Given the description of an element on the screen output the (x, y) to click on. 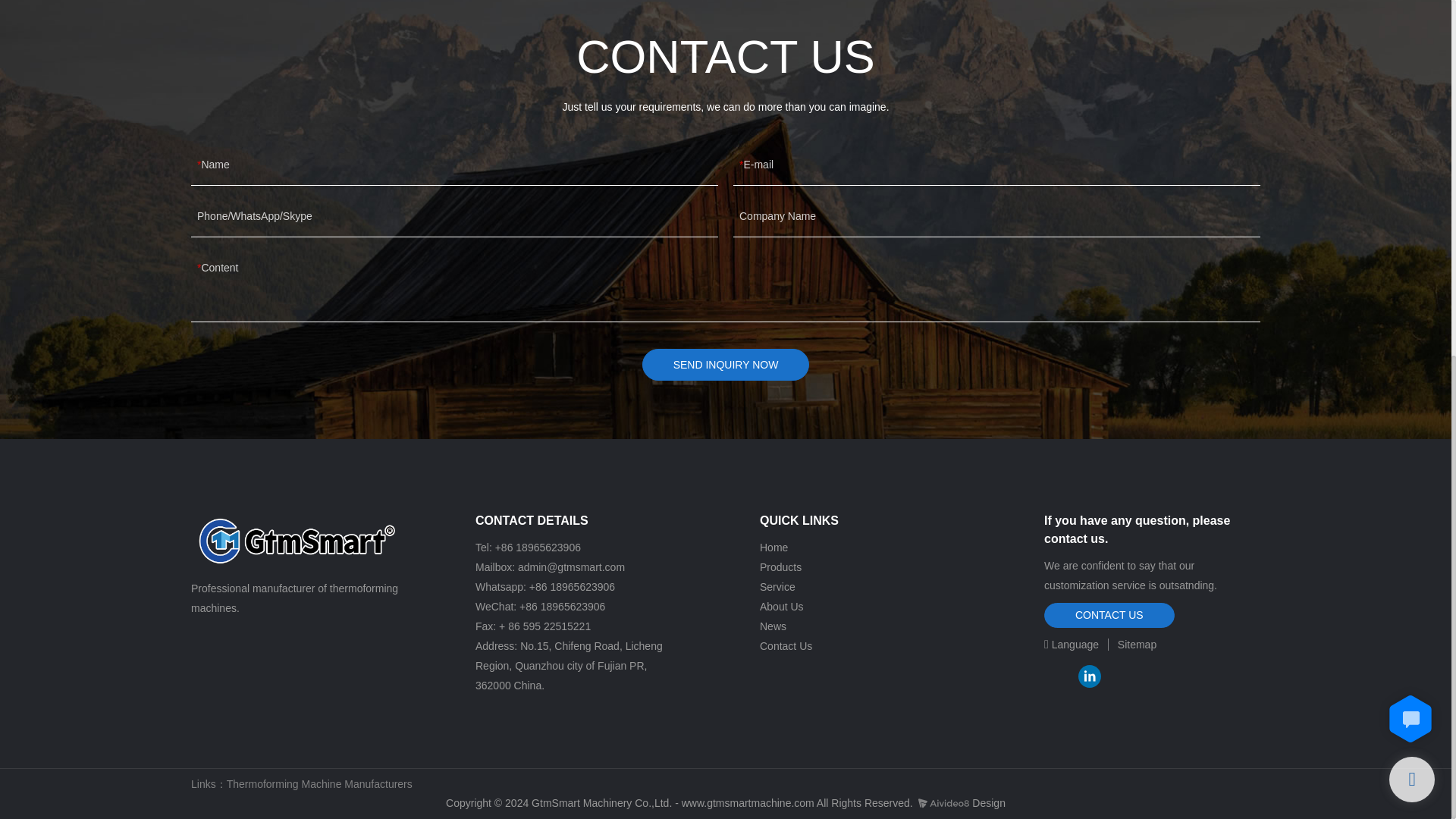
SEND INQUIRY NOW (725, 364)
